Given the description of an element on the screen output the (x, y) to click on. 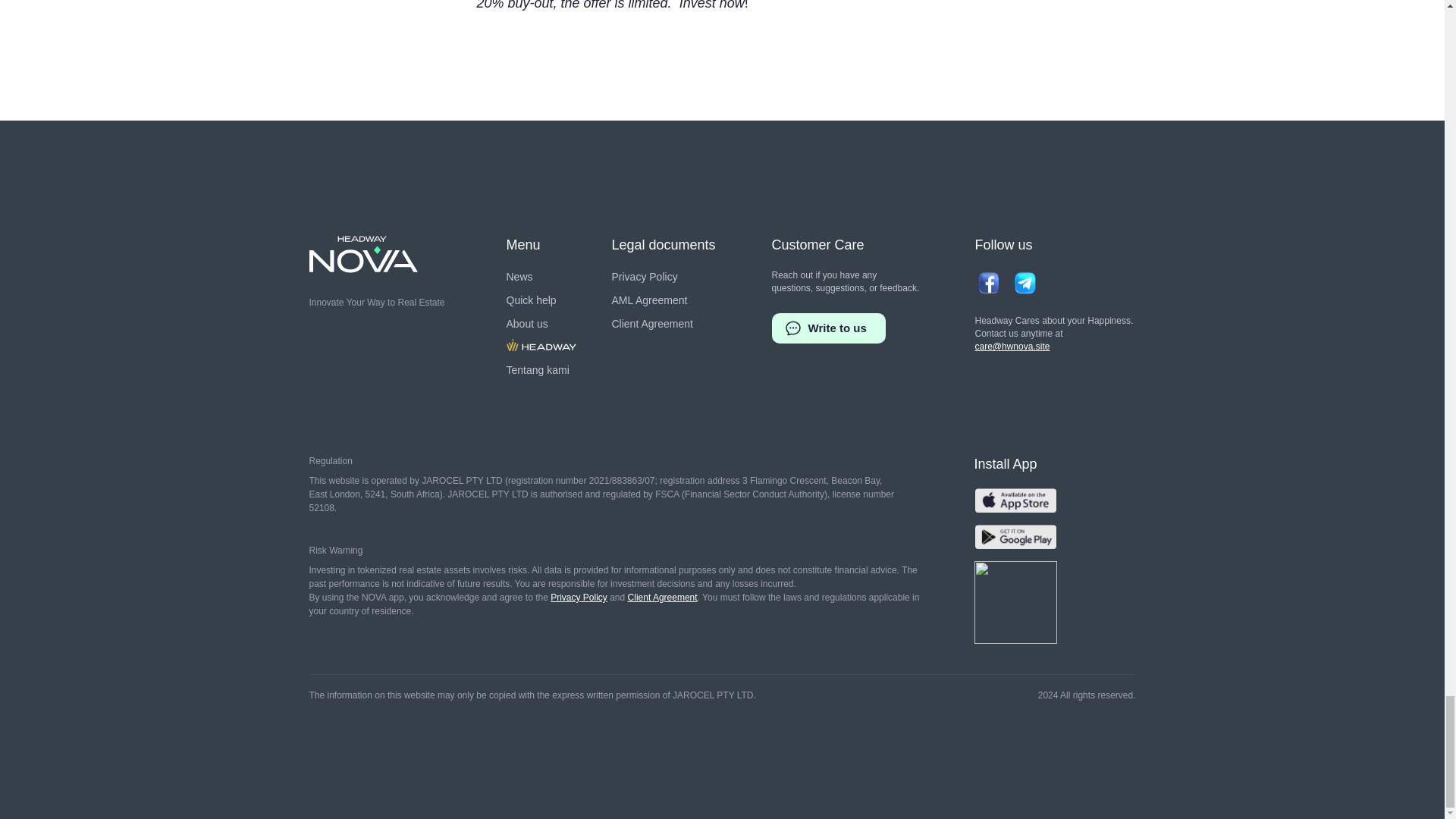
Quick help (531, 299)
AML Agreement (649, 299)
News (519, 276)
Tentang kami (537, 369)
Privacy Policy (578, 597)
Write to us (828, 327)
Redirect (541, 346)
Client Agreement (662, 597)
Client Agreement (652, 323)
Privacy Policy (644, 276)
About us (527, 323)
